Given the description of an element on the screen output the (x, y) to click on. 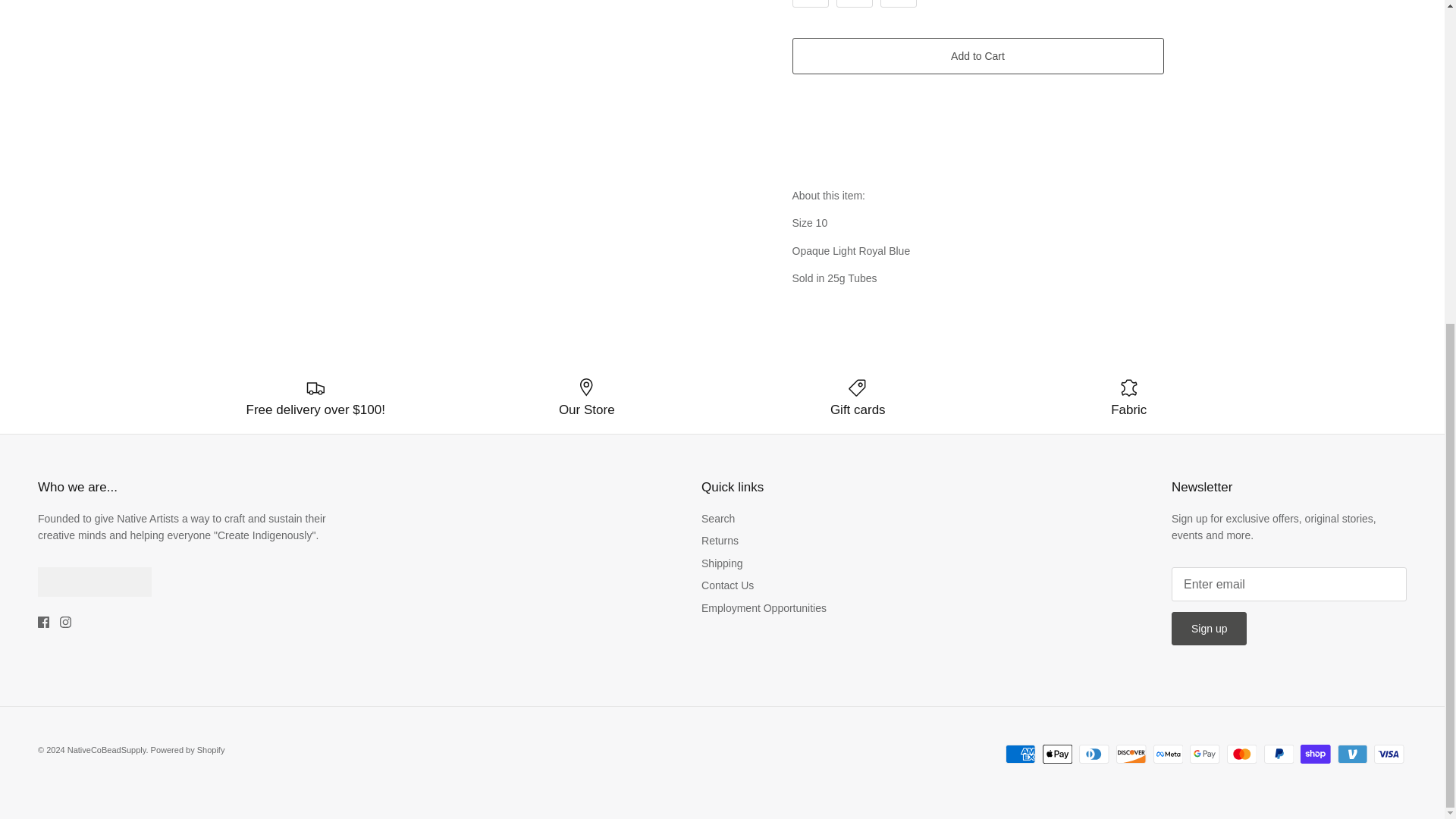
Meta Pay (1168, 753)
Discover (1130, 753)
1 (853, 3)
Facebook (43, 622)
Apple Pay (1057, 753)
Instagram (65, 622)
Mastercard (1241, 753)
Diners Club (1093, 753)
Google Pay (1204, 753)
American Express (1020, 753)
